Given the description of an element on the screen output the (x, y) to click on. 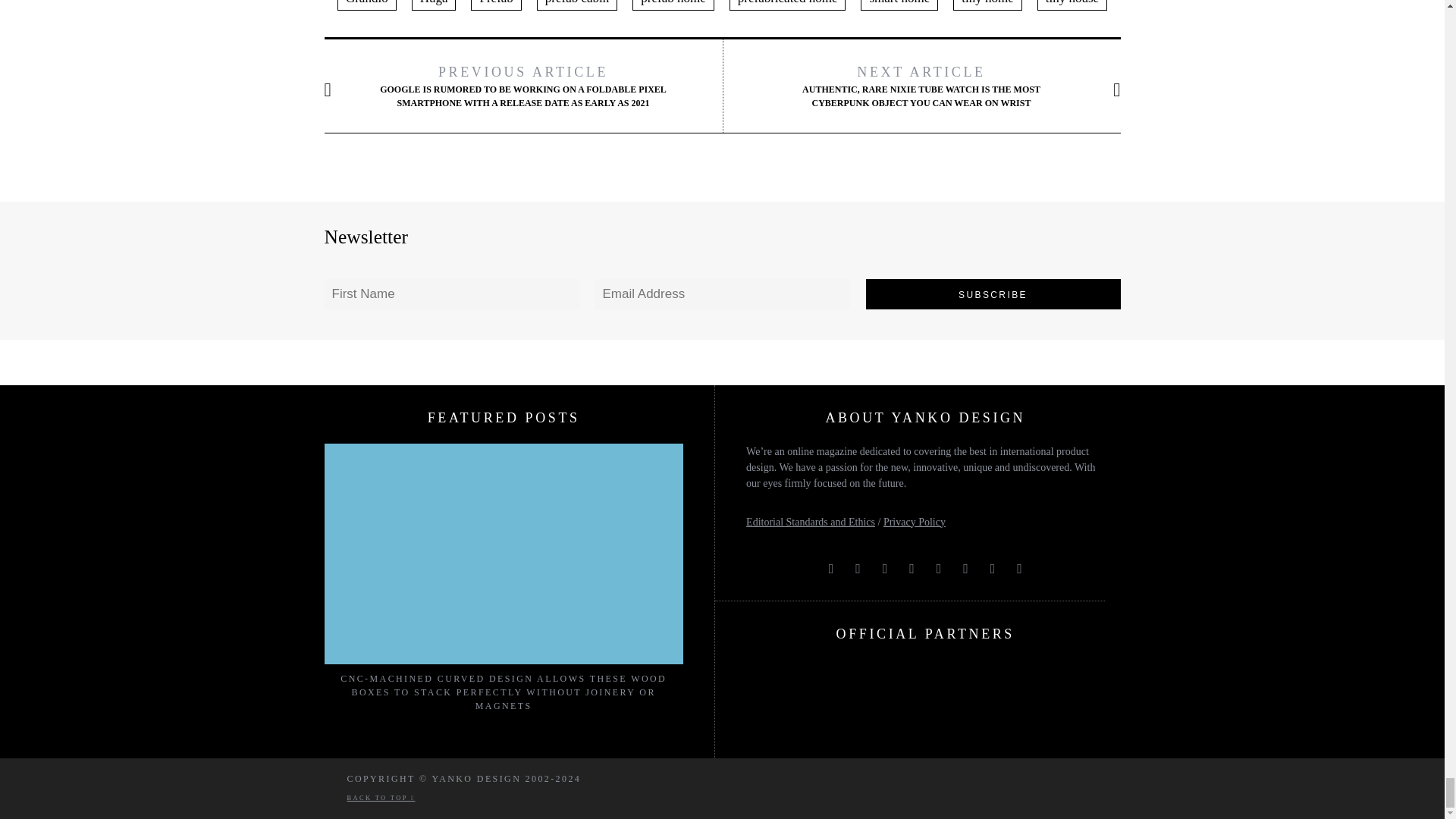
Editorial Standards and Ethics (810, 521)
Privacy Policy (913, 521)
Subscribe (993, 294)
